Given the description of an element on the screen output the (x, y) to click on. 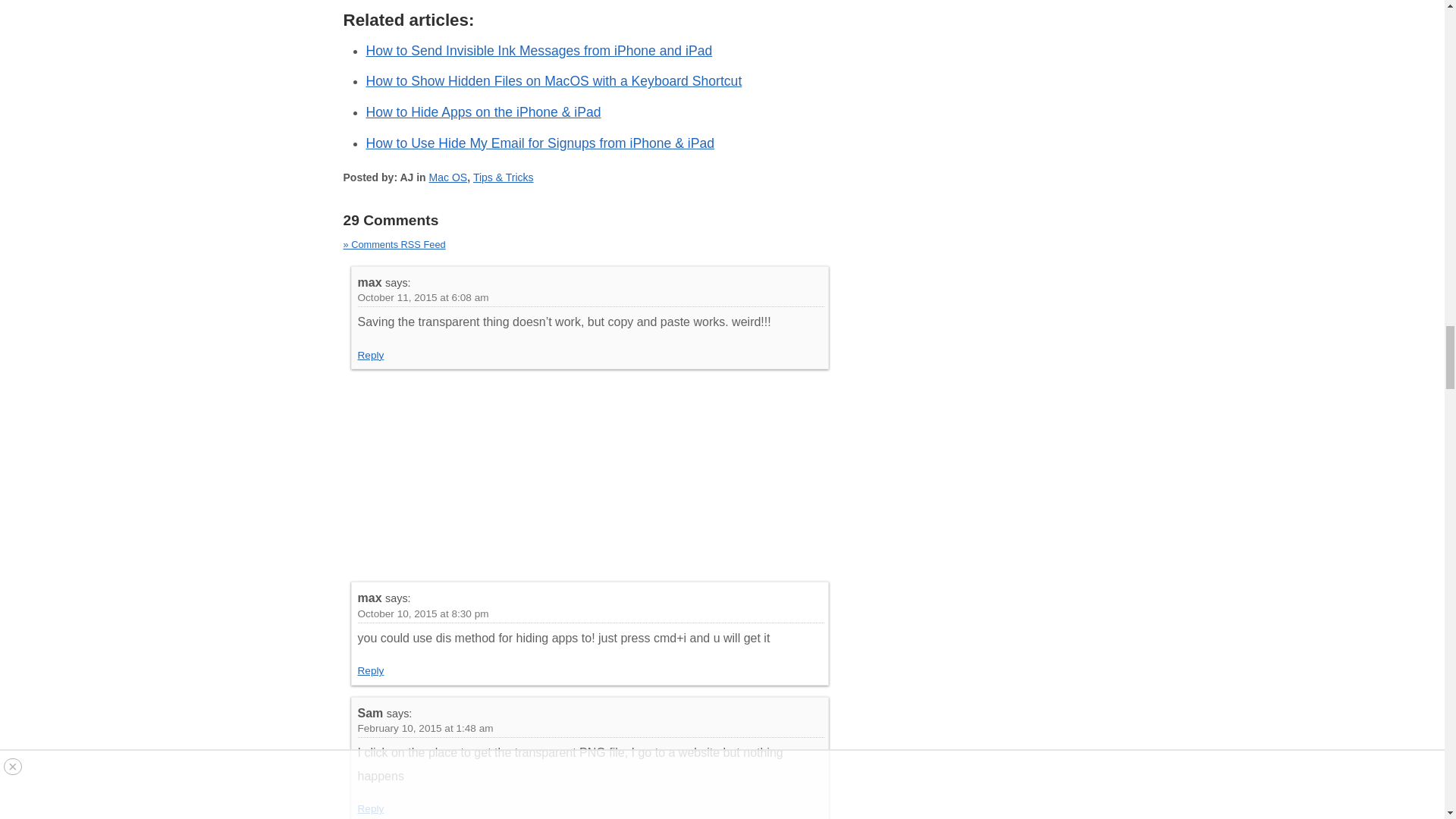
How to Show Hidden Files on MacOS with a Keyboard Shortcut (553, 80)
Mac OS (448, 177)
How to Send Invisible Ink Messages from iPhone and iPad (538, 50)
